Given the description of an element on the screen output the (x, y) to click on. 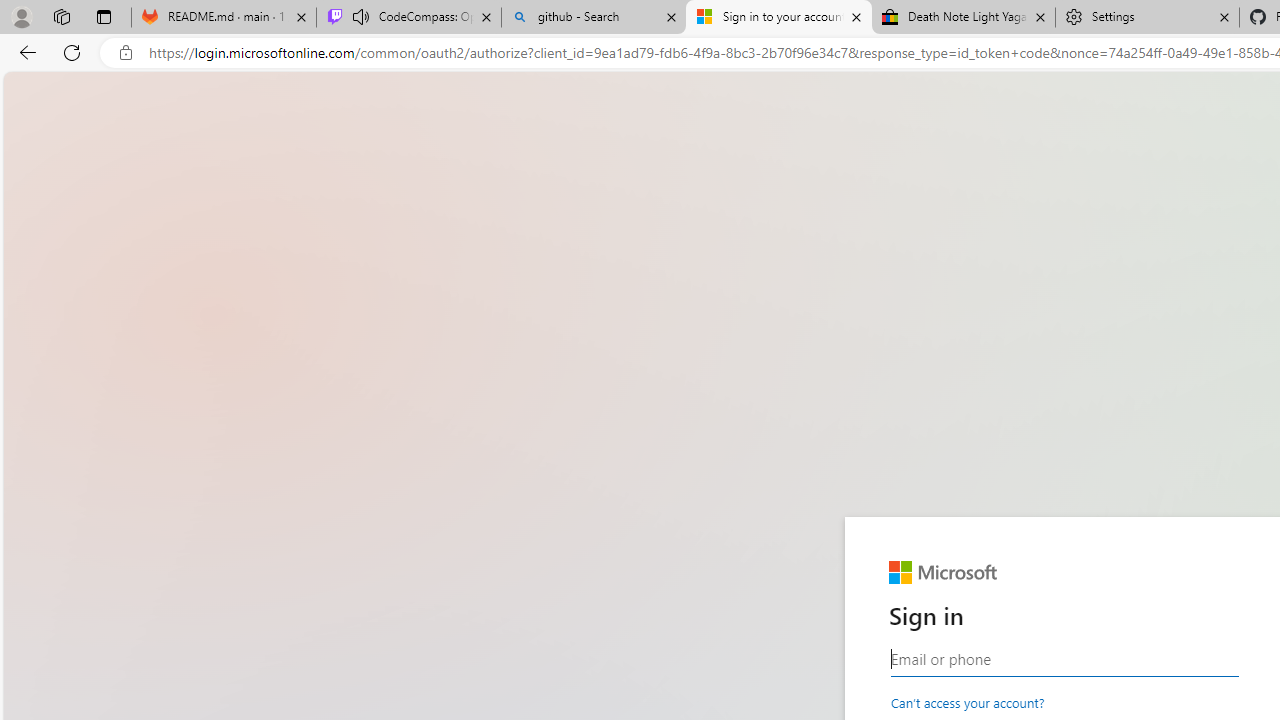
Mute tab (360, 16)
